Given the description of an element on the screen output the (x, y) to click on. 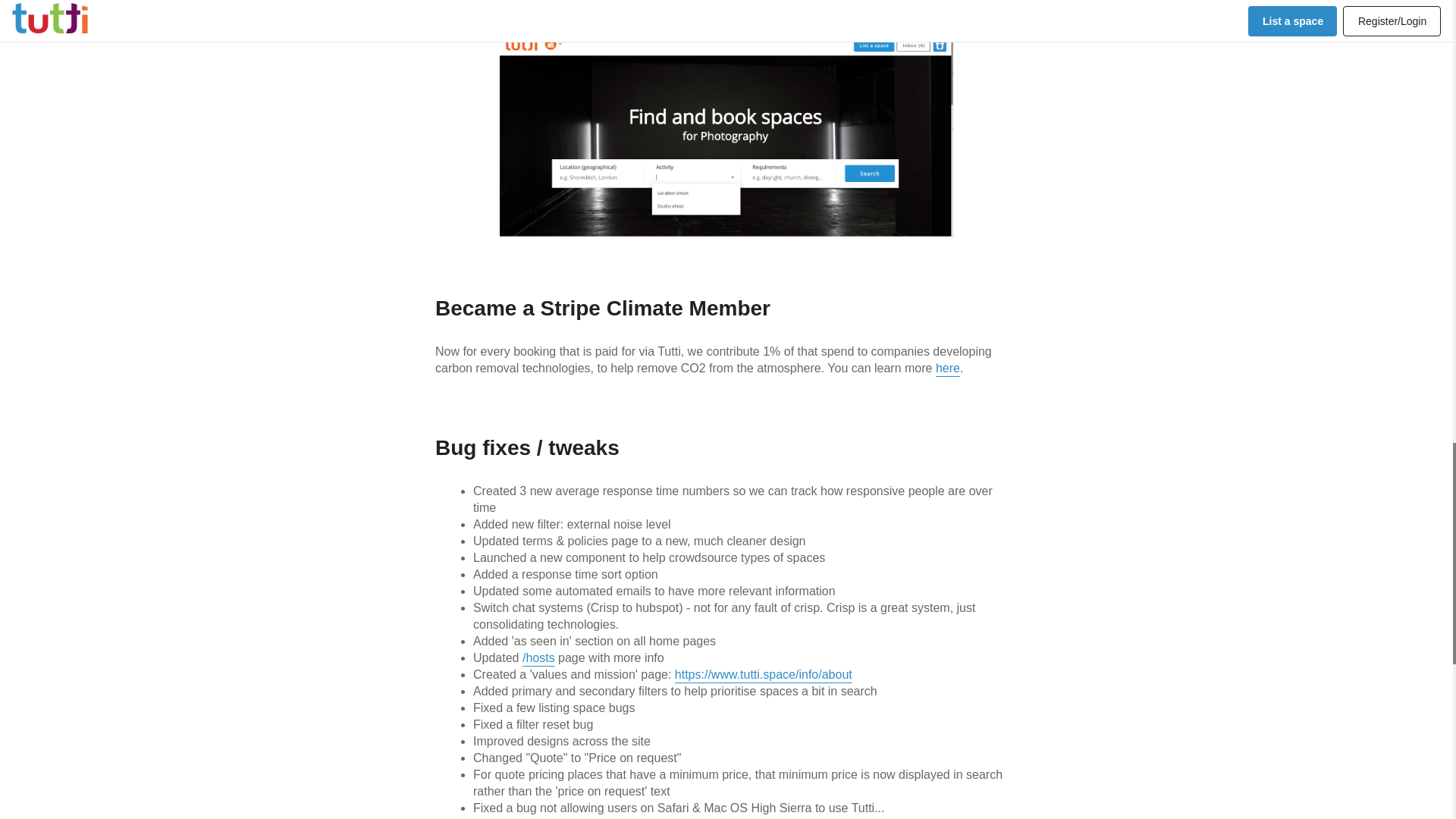
here (947, 367)
Tutti's values and mission (763, 674)
Host info page (538, 657)
Tutti carbon removal commitment (947, 367)
